Given the description of an element on the screen output the (x, y) to click on. 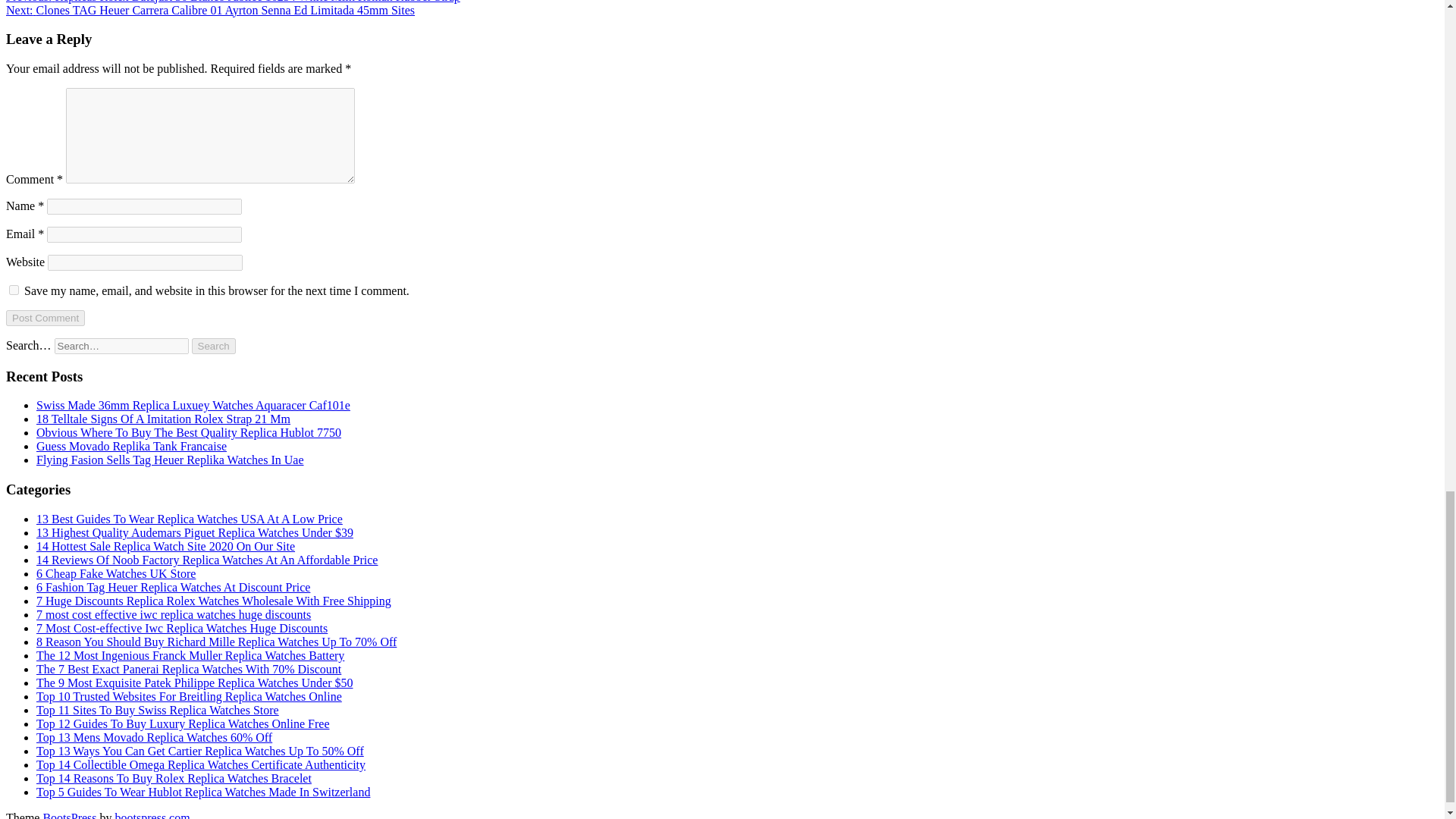
The 12 Most Ingenious Franck Muller Replica Watches Battery (189, 655)
Guess Movado Replika Tank Francaise (131, 445)
18 Telltale Signs Of A Imitation Rolex Strap 21 Mm (162, 418)
6 Cheap Fake Watches UK Store (115, 573)
7 most cost effective iwc replica watches huge discounts (173, 614)
Top 10 Trusted Websites For Breitling Replica Watches Online (189, 696)
6 Fashion Tag Heuer Replica Watches At Discount Price (173, 586)
Swiss Made 36mm Replica Luxuey Watches Aquaracer Caf101e (193, 404)
Obvious Where To Buy The Best Quality Replica Hublot 7750 (188, 431)
14 Hottest Sale Replica Watch Site 2020 On Our Site (165, 545)
Search (213, 345)
Top 12 Guides To Buy Luxury Replica Watches Online Free (182, 723)
Post Comment (44, 317)
